Given the description of an element on the screen output the (x, y) to click on. 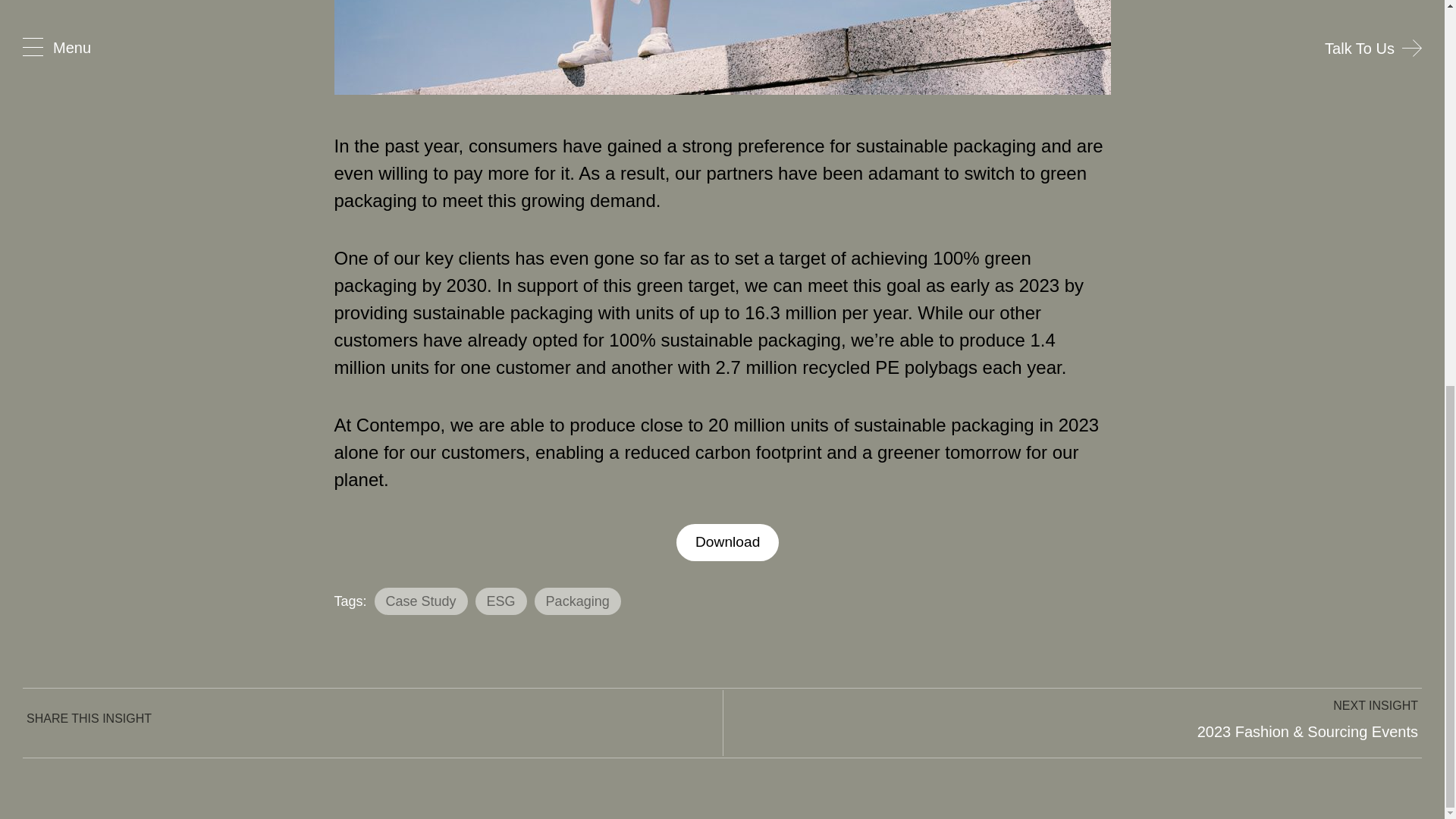
Packaging (577, 601)
ESG (501, 601)
Case Study (420, 601)
Download (727, 542)
